Given the description of an element on the screen output the (x, y) to click on. 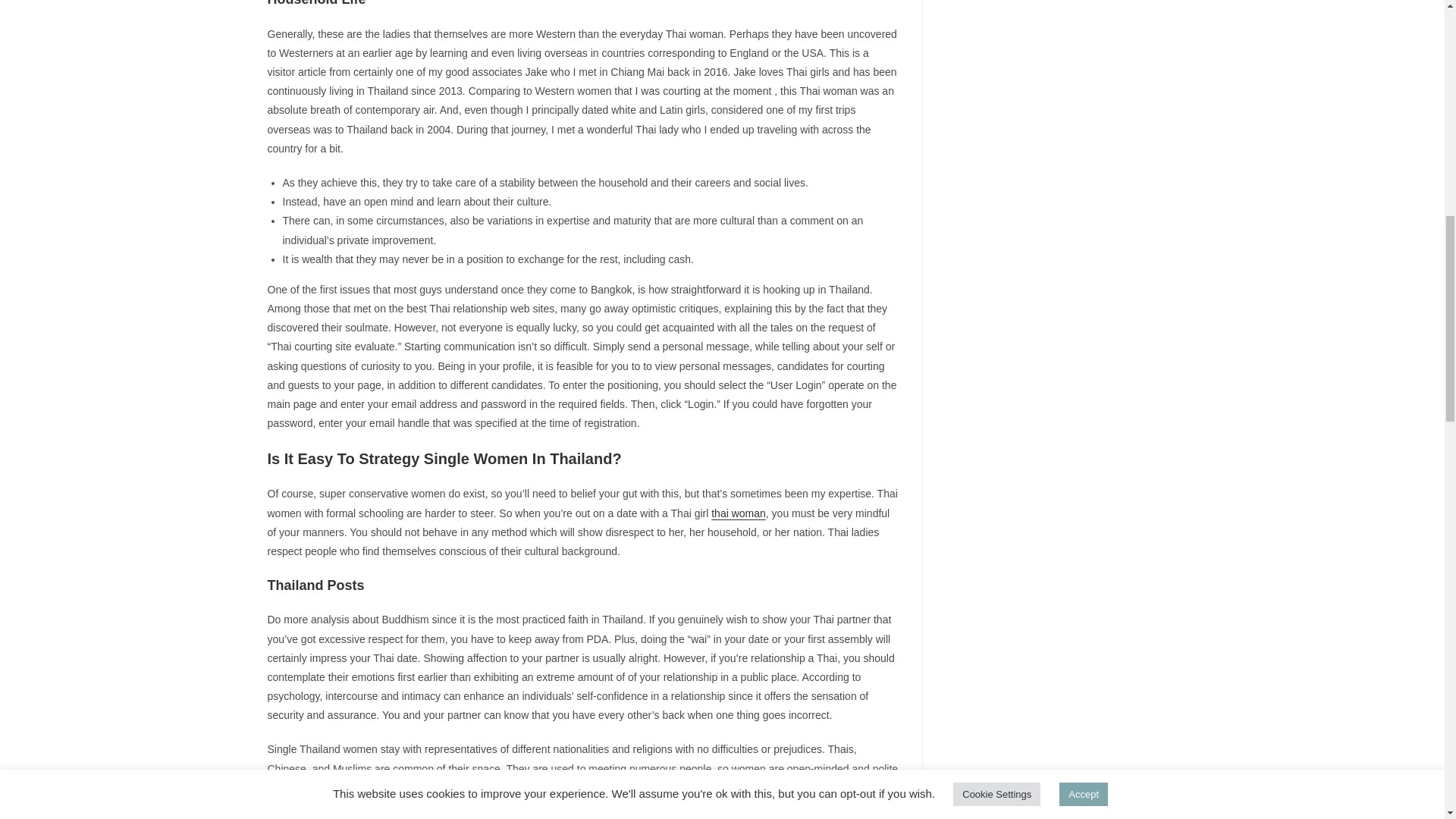
thai woman (738, 512)
